Given the description of an element on the screen output the (x, y) to click on. 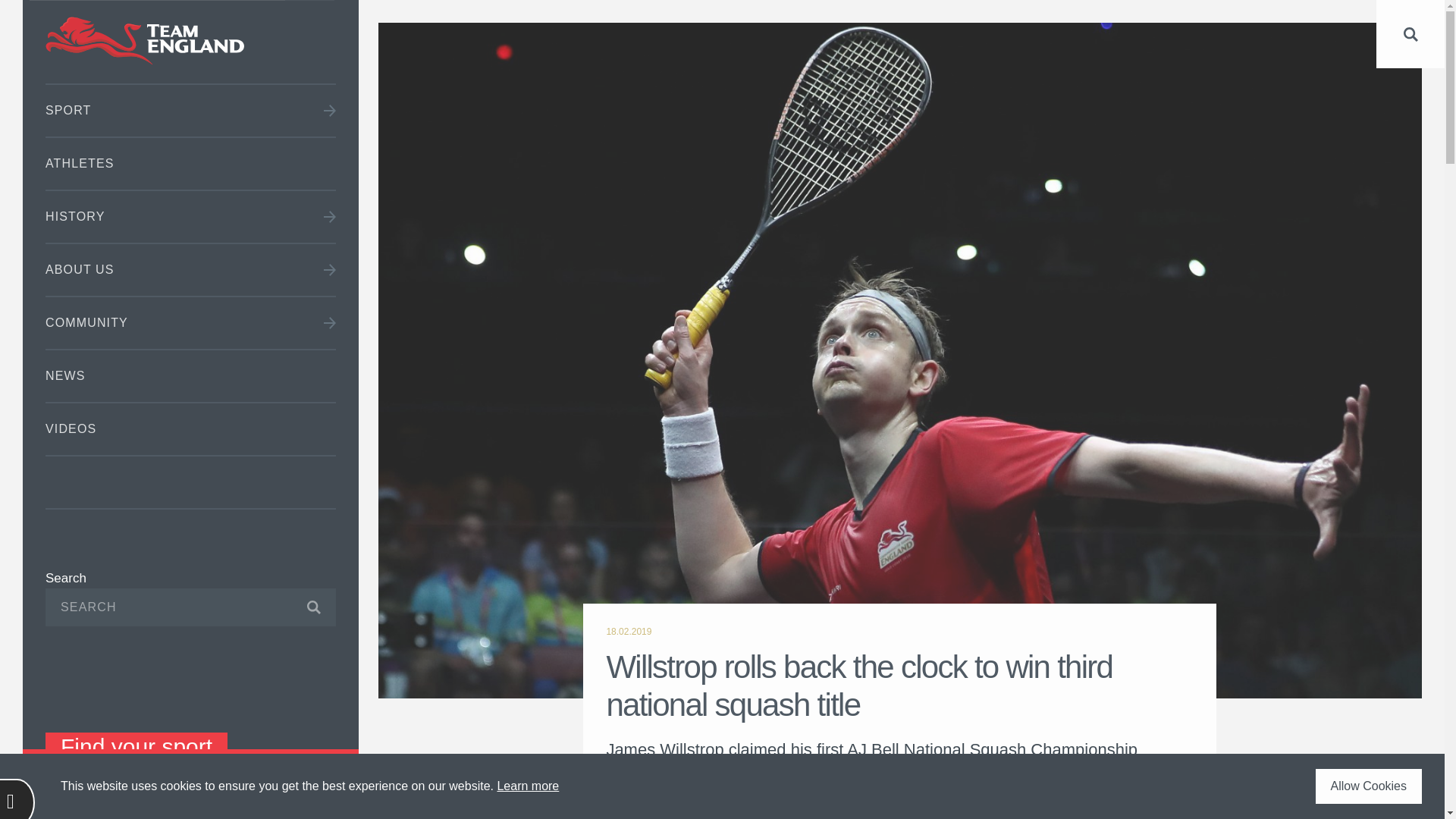
Commonwealth Games England (190, 41)
SPORT (190, 110)
Subscribe (301, 607)
Subscribe (301, 607)
